Given the description of an element on the screen output the (x, y) to click on. 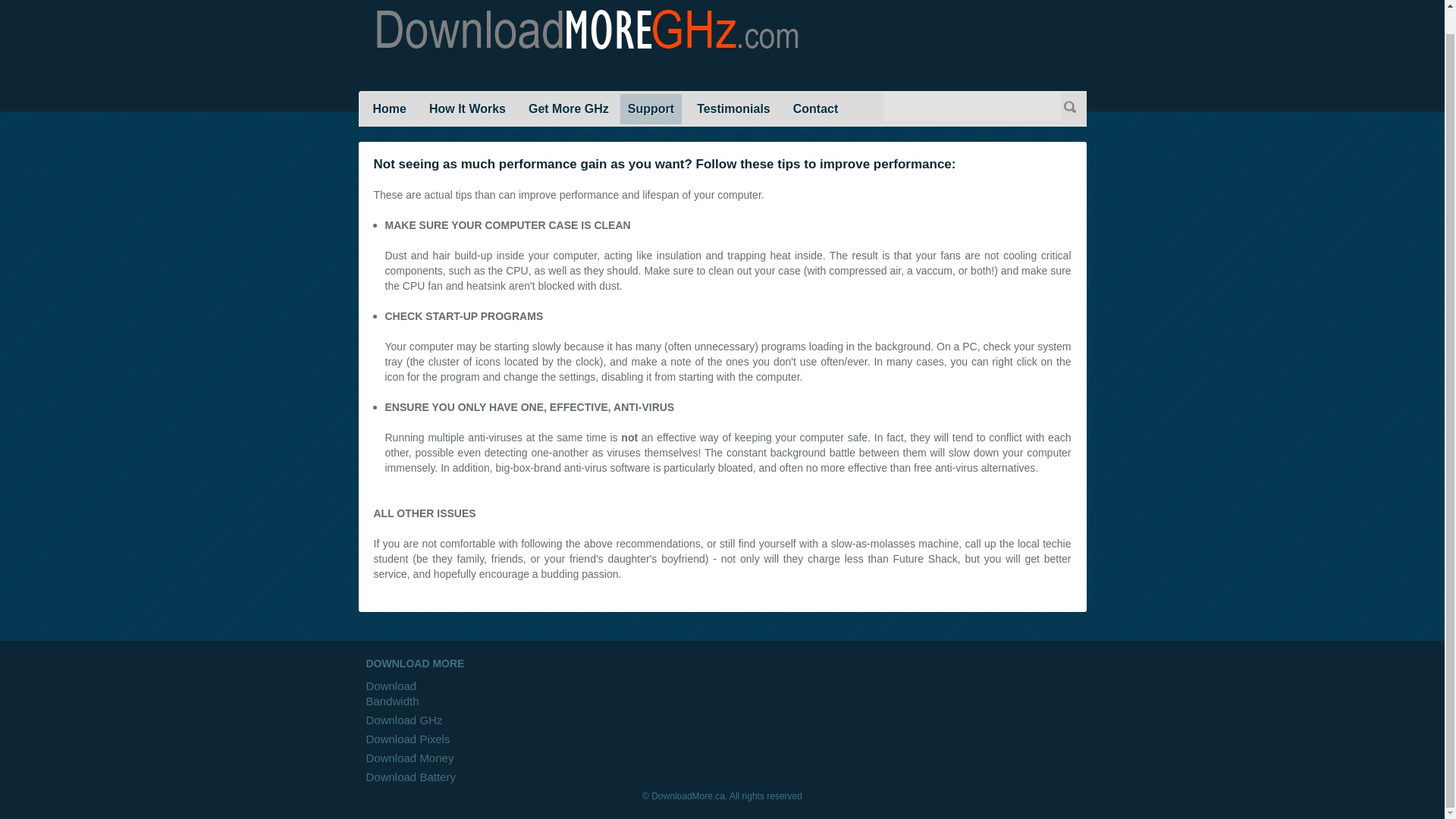
Home (389, 108)
Download Money (408, 757)
Contact (815, 108)
Testimonials (732, 108)
Get More GHz (568, 108)
Support (650, 108)
Download GHz (403, 719)
Download Battery (409, 776)
Download Bandwidth (392, 693)
How It Works (467, 108)
